Given the description of an element on the screen output the (x, y) to click on. 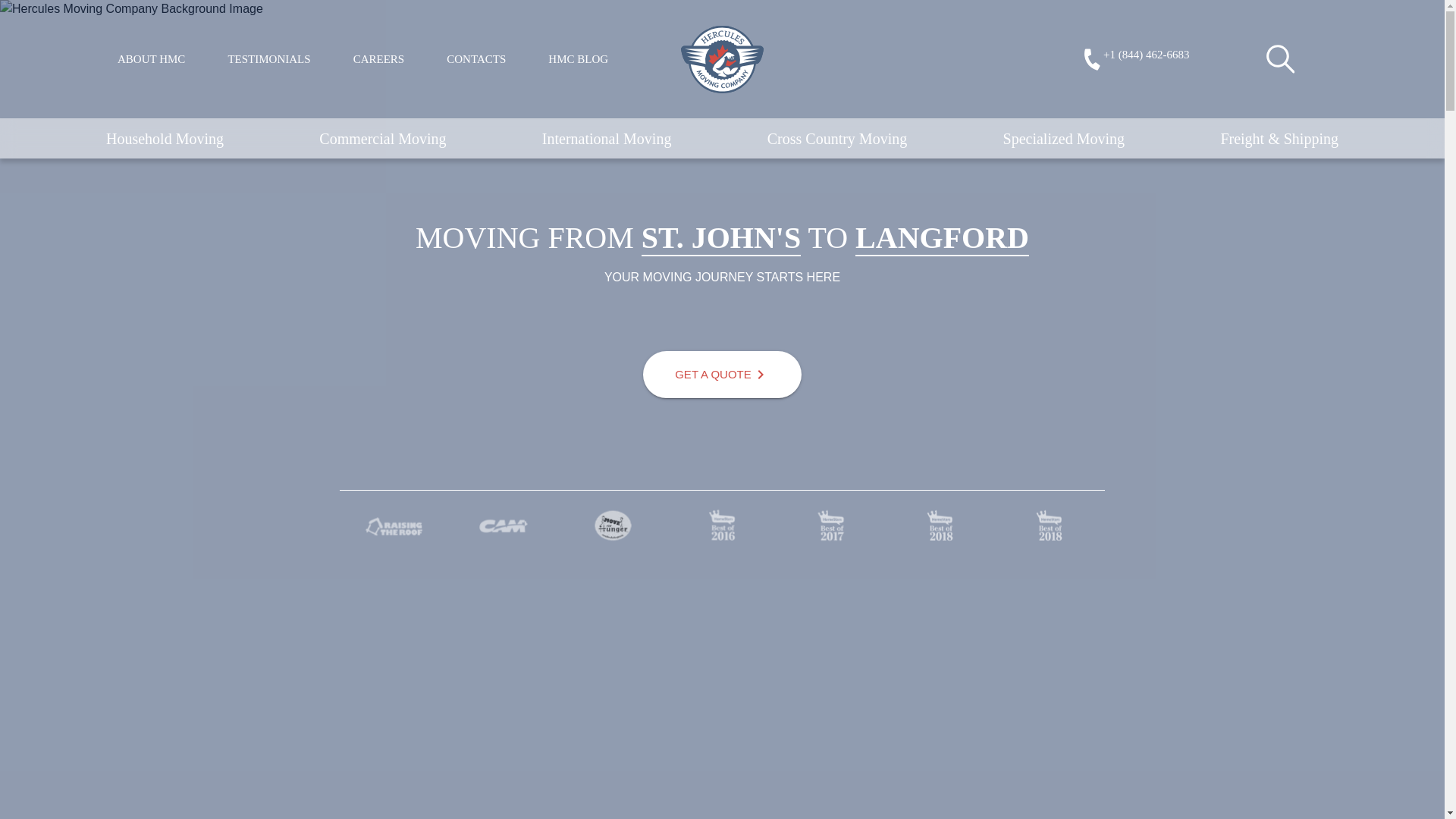
Household Moving (165, 137)
ABOUT HMC (150, 59)
CONTACTS (475, 59)
HMC BLOG (578, 59)
CAREERS (378, 59)
TESTIMONIALS (268, 59)
